Given the description of an element on the screen output the (x, y) to click on. 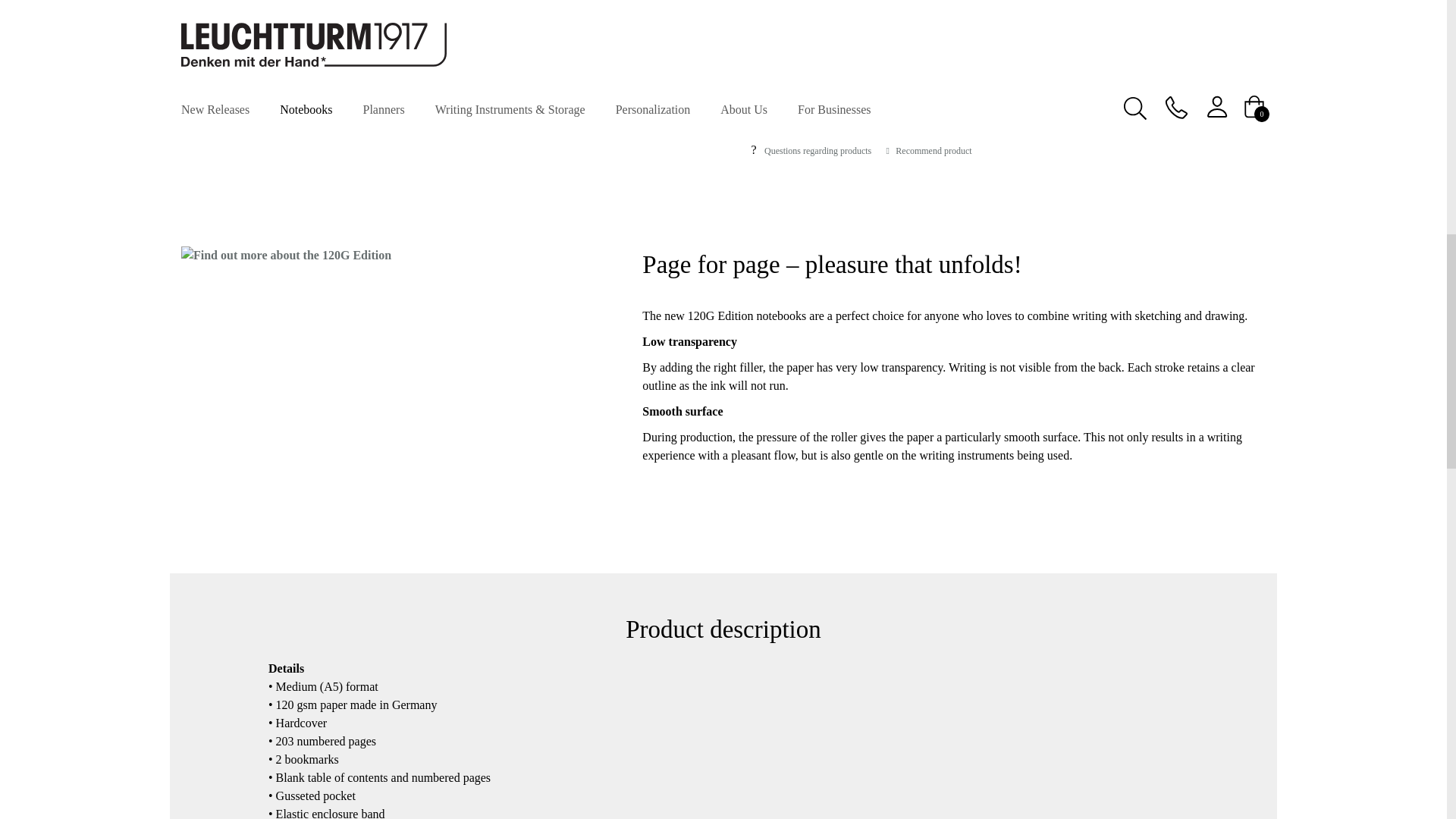
1 (757, 98)
